Given the description of an element on the screen output the (x, y) to click on. 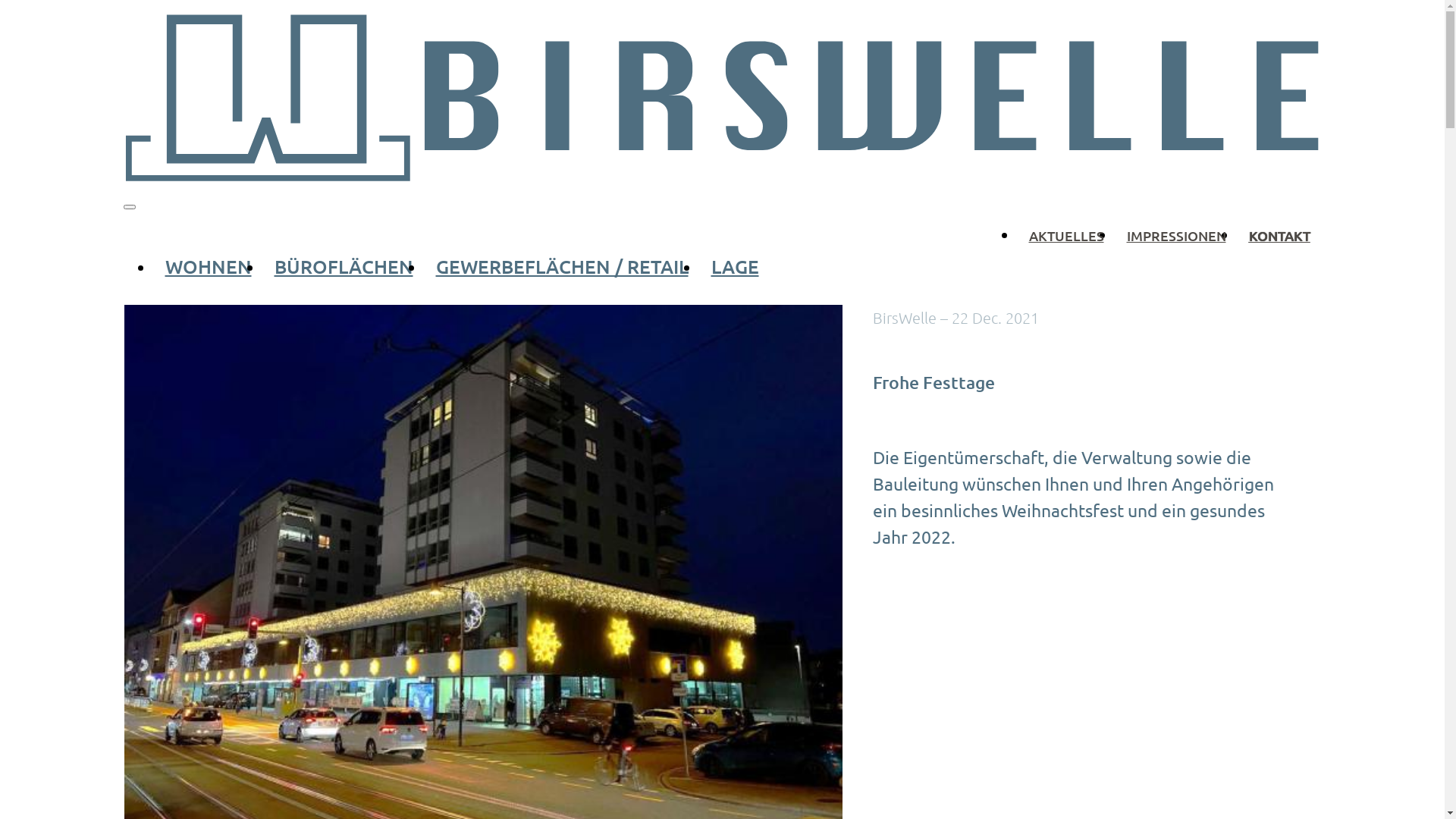
KONTAKT Element type: text (1279, 235)
WOHNEN Element type: text (207, 265)
AKTUELLES Element type: text (1066, 235)
LAGE Element type: text (734, 265)
IMPRESSIONEN Element type: text (1175, 235)
